Given the description of an element on the screen output the (x, y) to click on. 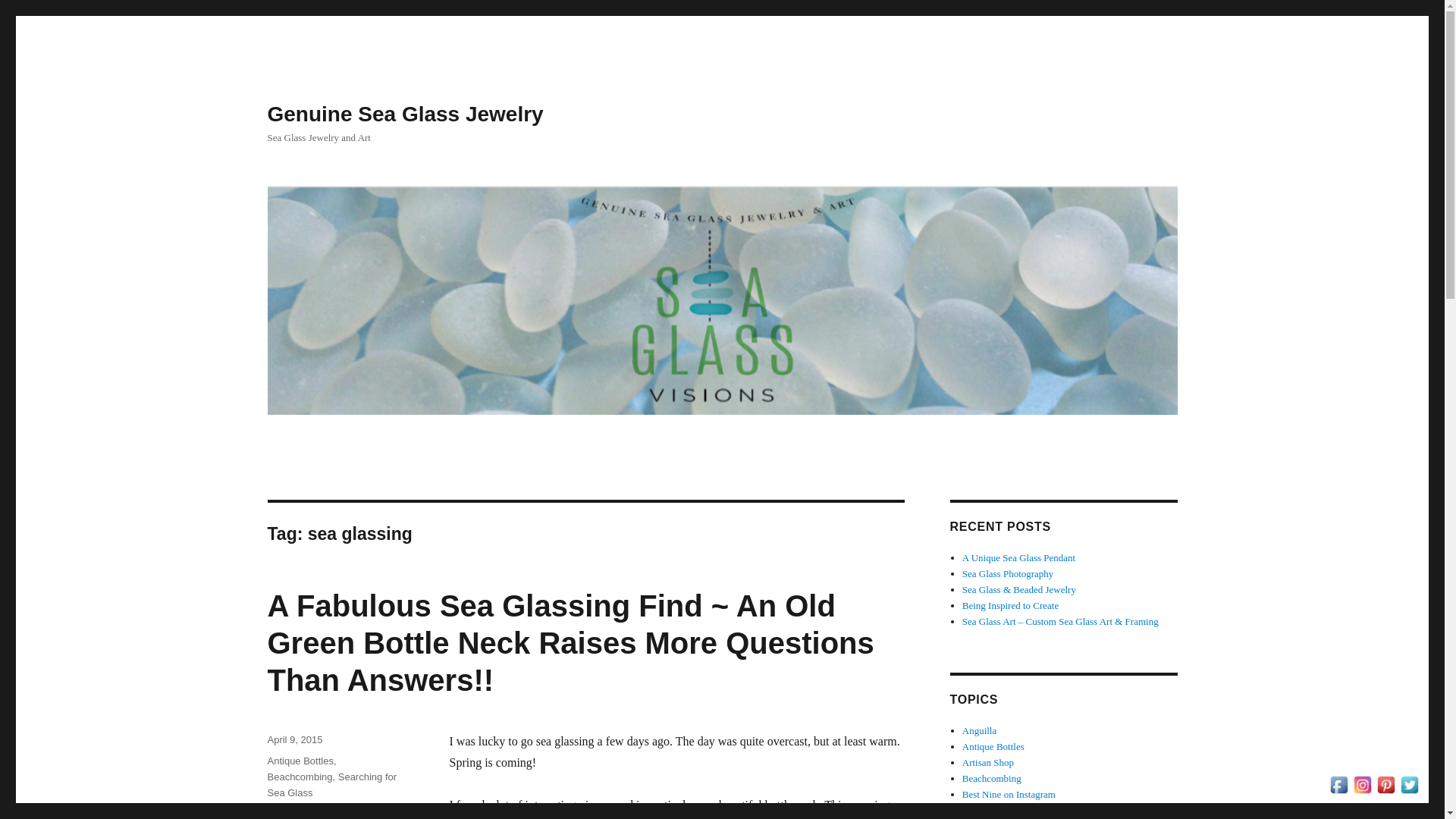
Artisan Shop (987, 762)
Genuine Sea Glass Jewelry (404, 114)
Best Nine on Instagram (1008, 794)
Beachcombing (992, 778)
antique bottle (296, 813)
Anguilla (979, 730)
Being Inspired to Create (1010, 604)
Visit Us On Pinterest (1385, 783)
Antique Bottles (299, 760)
Antique Bottles (993, 746)
Visit Us On Facebook (1338, 783)
Blue Sea Glass (992, 809)
Searching for Sea Glass (331, 784)
April 9, 2015 (293, 739)
beach combing (364, 813)
